Given the description of an element on the screen output the (x, y) to click on. 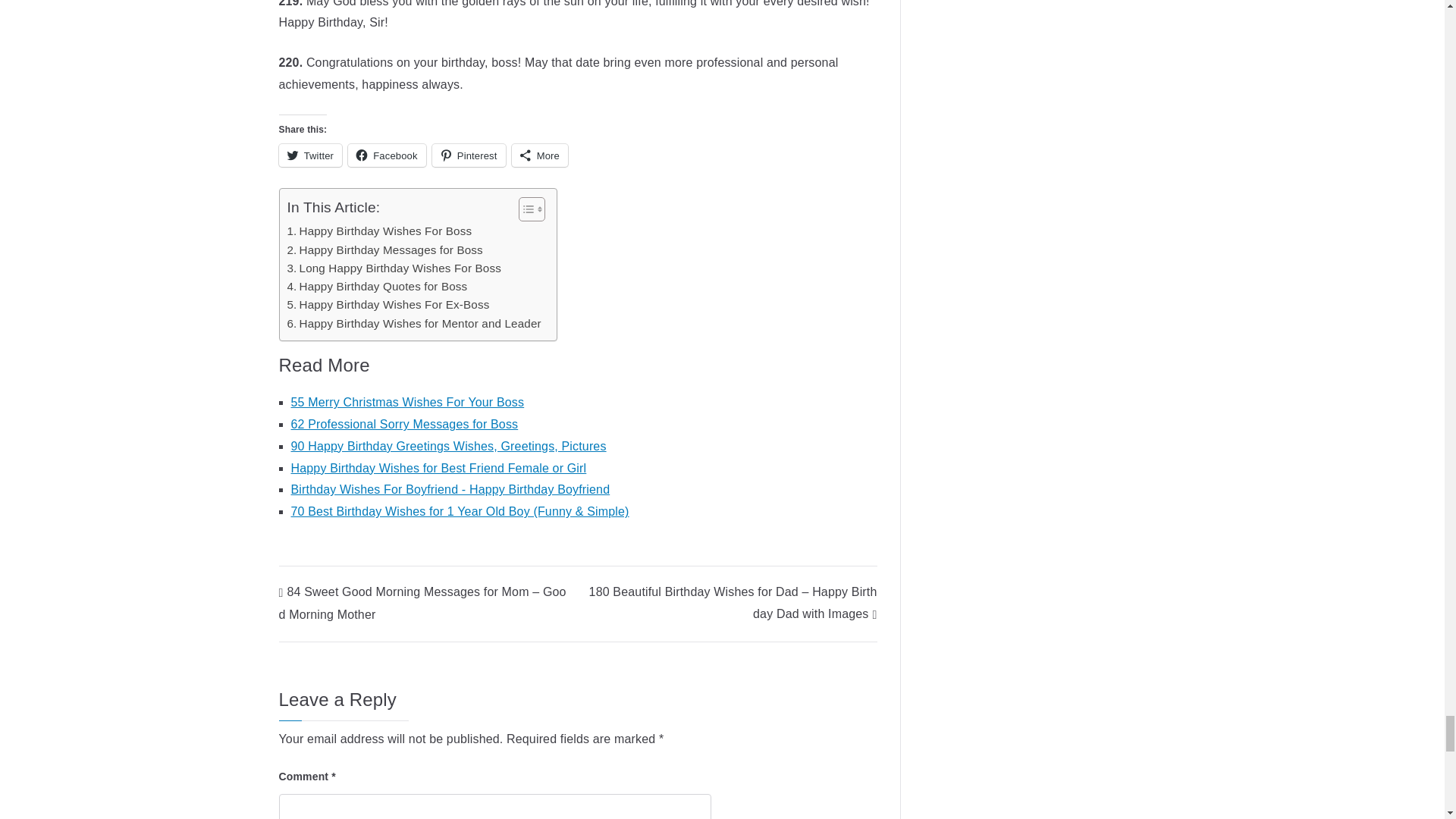
Twitter (310, 155)
Click to share on Pinterest (468, 155)
Click to share on Facebook (386, 155)
Happy Birthday Wishes For Boss (378, 230)
More (539, 155)
Click to share on Twitter (310, 155)
Facebook (386, 155)
Pinterest (468, 155)
